Given the description of an element on the screen output the (x, y) to click on. 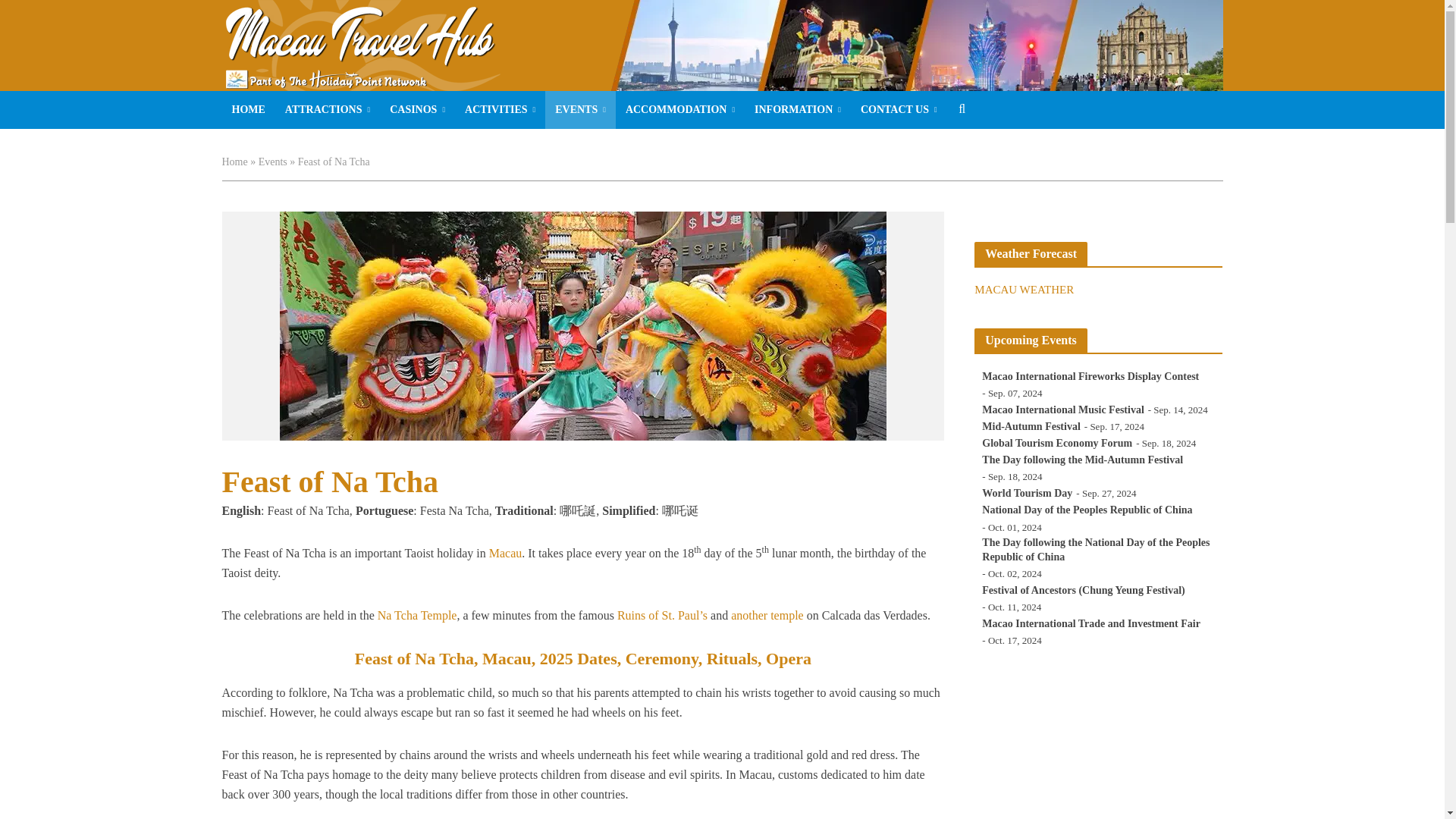
CASINOS (417, 109)
HOME (248, 109)
ATTRACTIONS (327, 109)
